Given the description of an element on the screen output the (x, y) to click on. 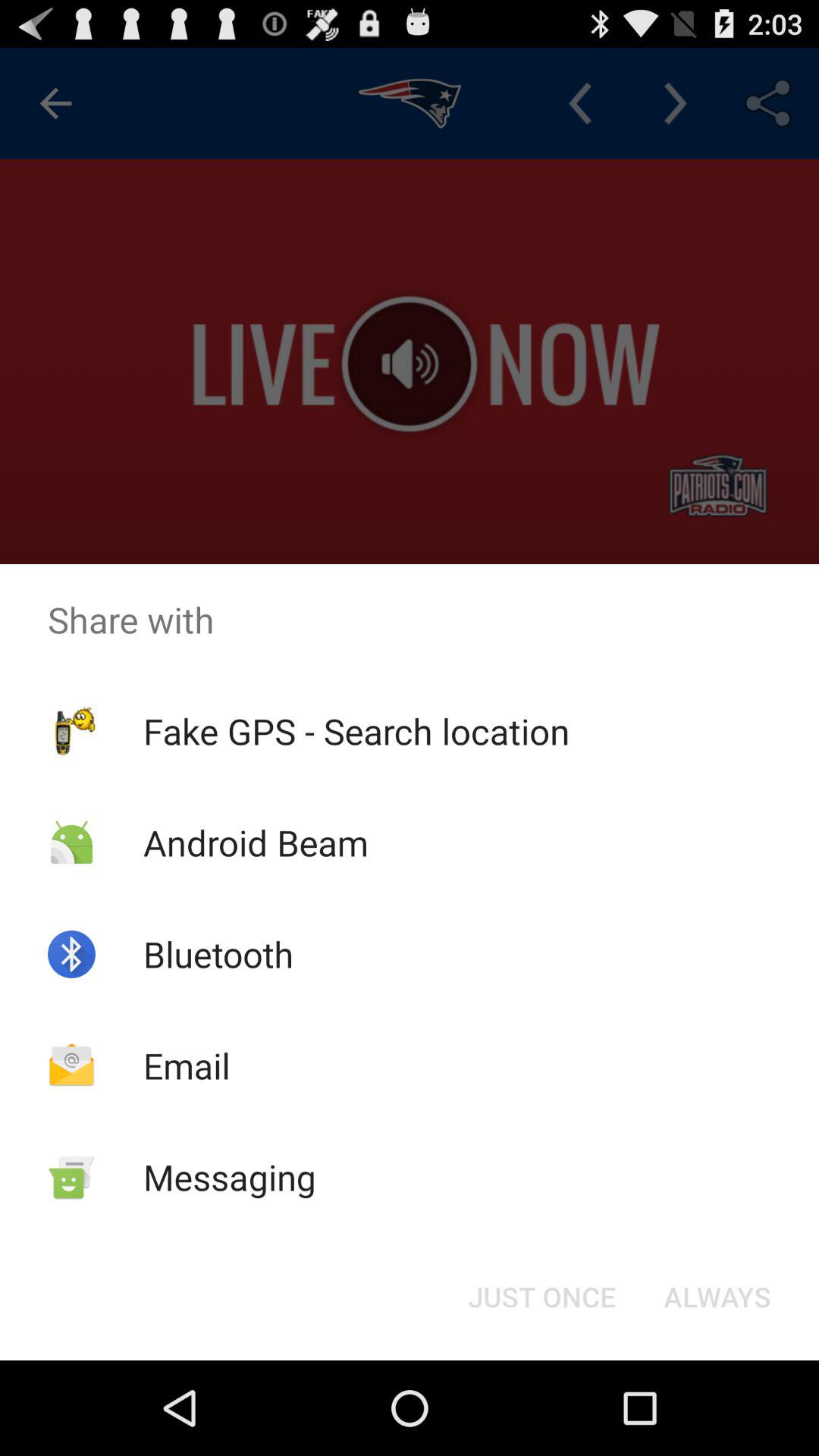
turn off item to the right of the just once item (717, 1296)
